Given the description of an element on the screen output the (x, y) to click on. 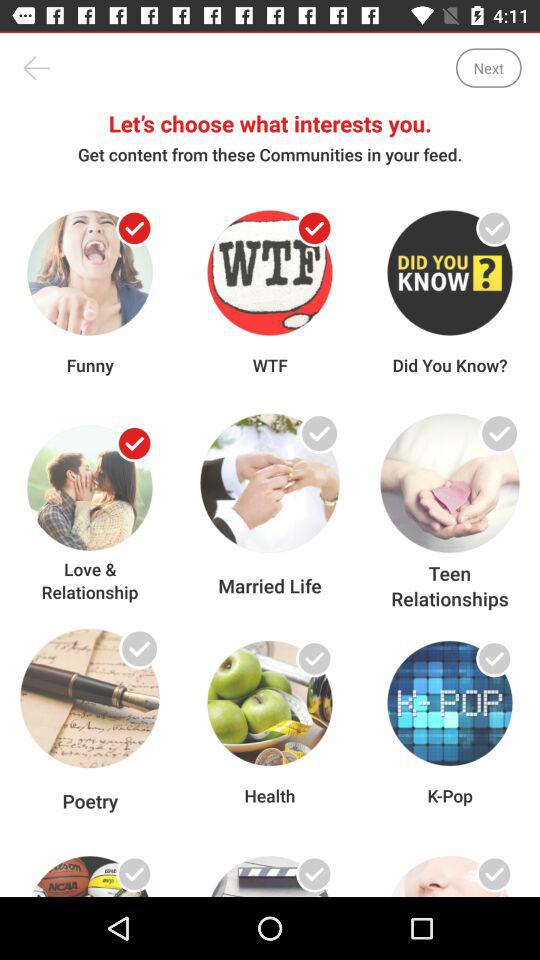
selects love and relationship as an interest (134, 443)
